Given the description of an element on the screen output the (x, y) to click on. 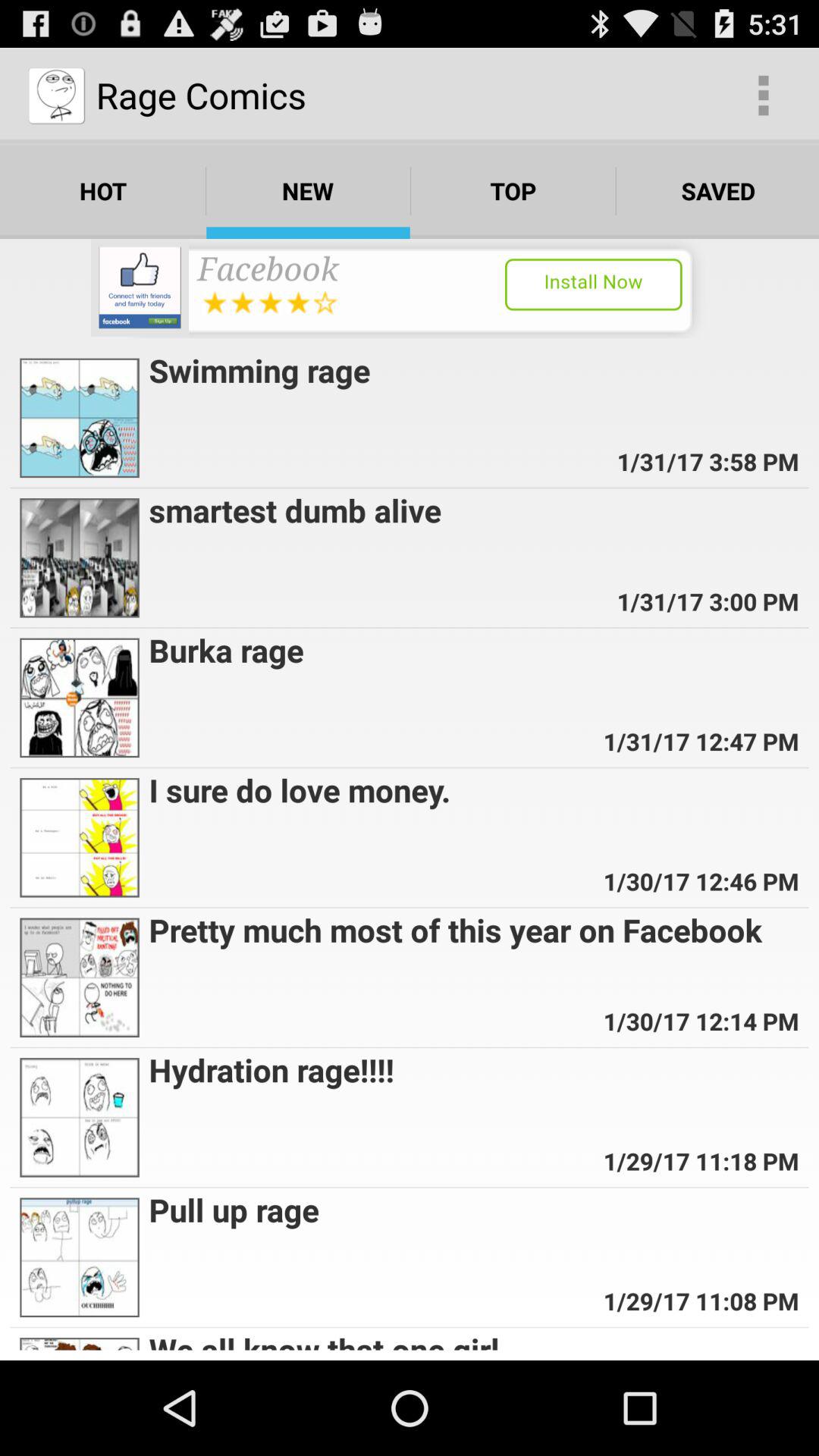
install facebook app (409, 288)
